Given the description of an element on the screen output the (x, y) to click on. 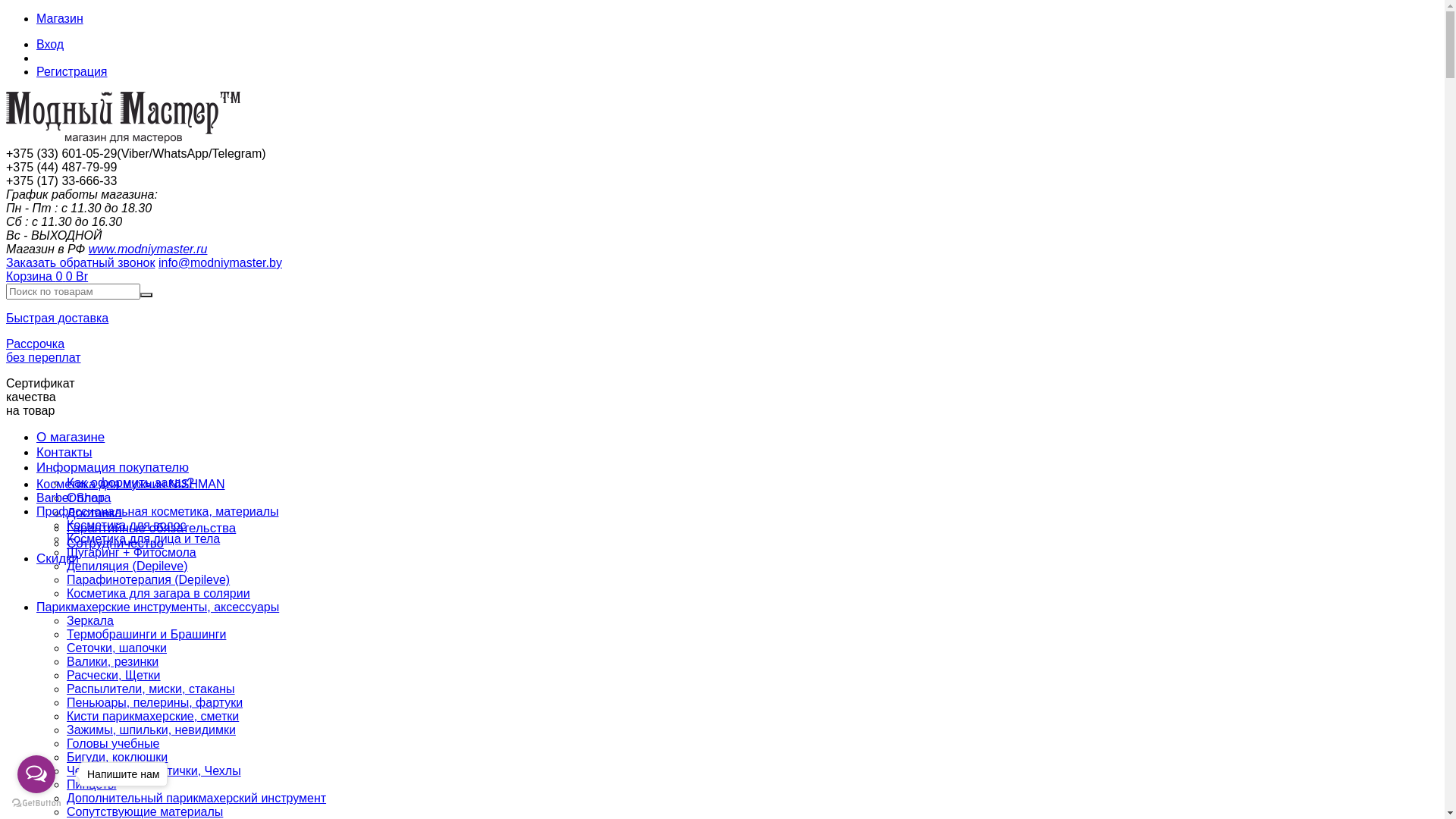
www.modniymaster.ru Element type: text (147, 248)
info@modniymaster.by Element type: text (220, 262)
Barber Shop Element type: text (70, 497)
